Given the description of an element on the screen output the (x, y) to click on. 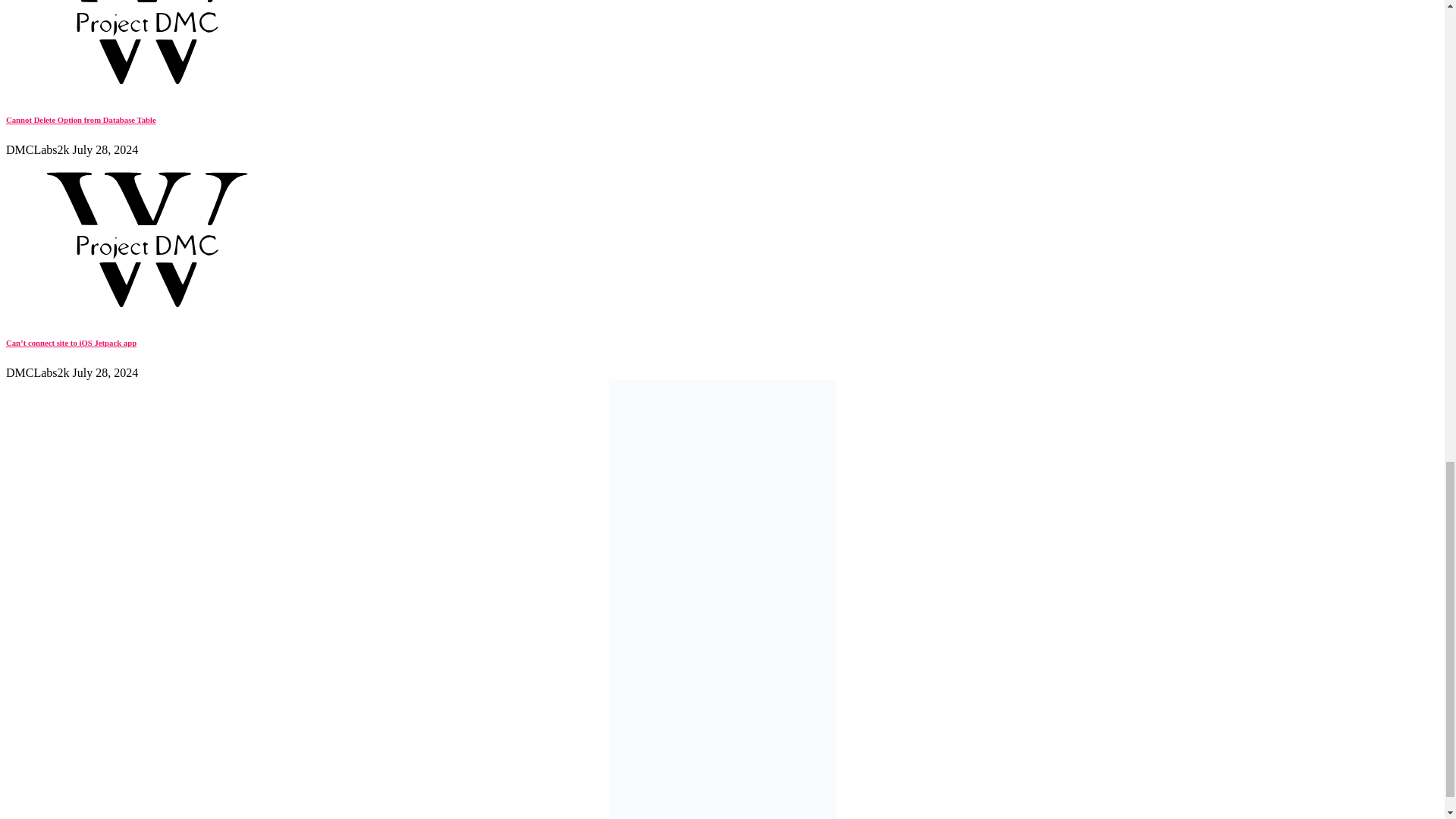
Cannot Delete Option from Database Table (80, 119)
Cannot Delete Option from Database Table (146, 88)
